Given the description of an element on the screen output the (x, y) to click on. 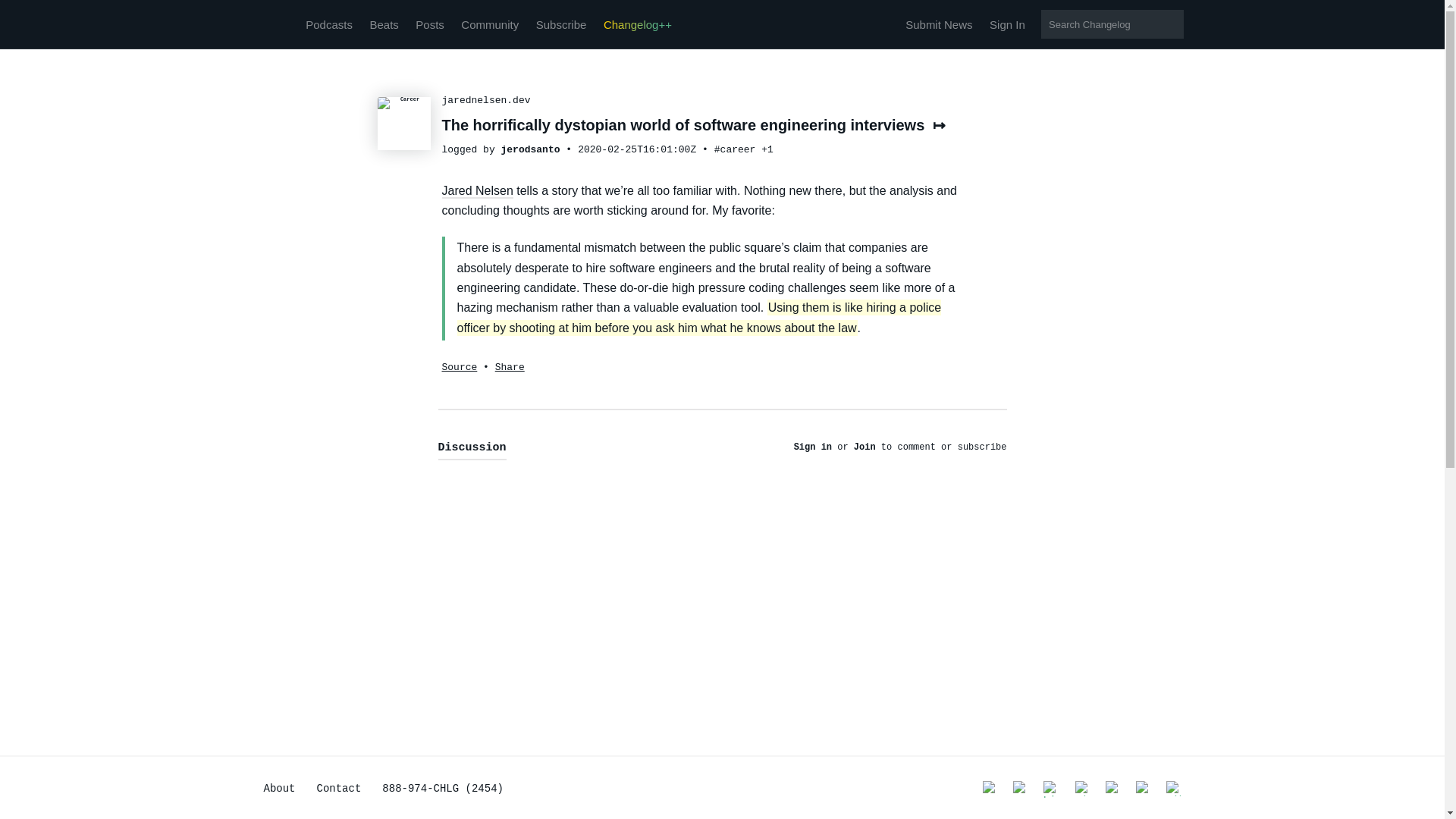
Copy URL for easy sharing (509, 367)
Changelog Community (489, 24)
jarednelsen.dev (485, 100)
Career (403, 123)
Submit News (938, 24)
View Career (734, 149)
Join (864, 447)
Changelog (274, 23)
Subscribe (560, 24)
Posts (429, 24)
Podcasts (328, 24)
Changelog Podcasts (328, 24)
About (279, 788)
Community (489, 24)
2020-02-25T16:01:00Z (636, 149)
